Given the description of an element on the screen output the (x, y) to click on. 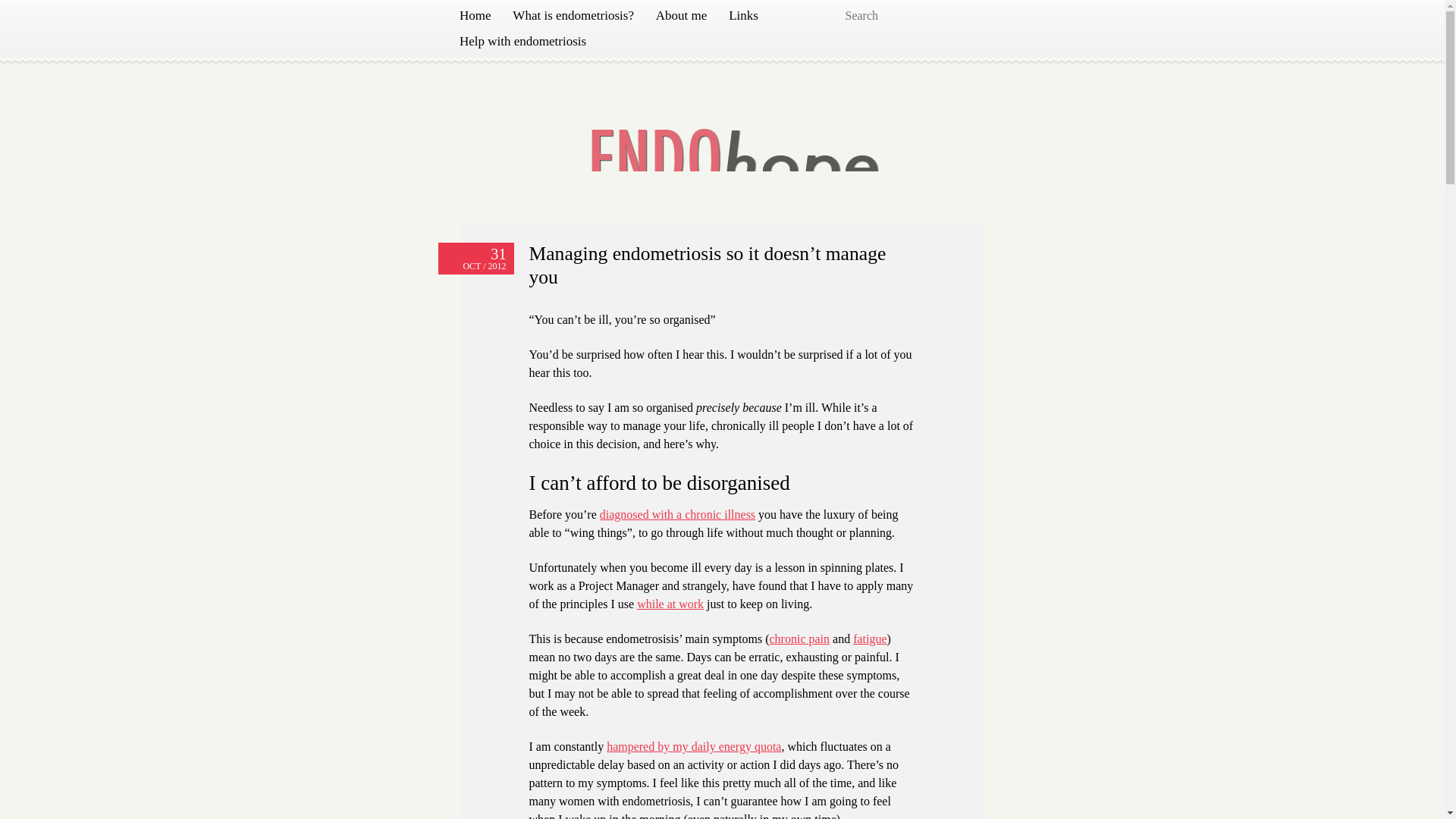
About me (681, 15)
About me (681, 15)
Endohope (520, 114)
diagnosed with a chronic illness (677, 513)
Endohope (520, 114)
fatigue (869, 638)
Home (475, 15)
while at work (670, 603)
